Given the description of an element on the screen output the (x, y) to click on. 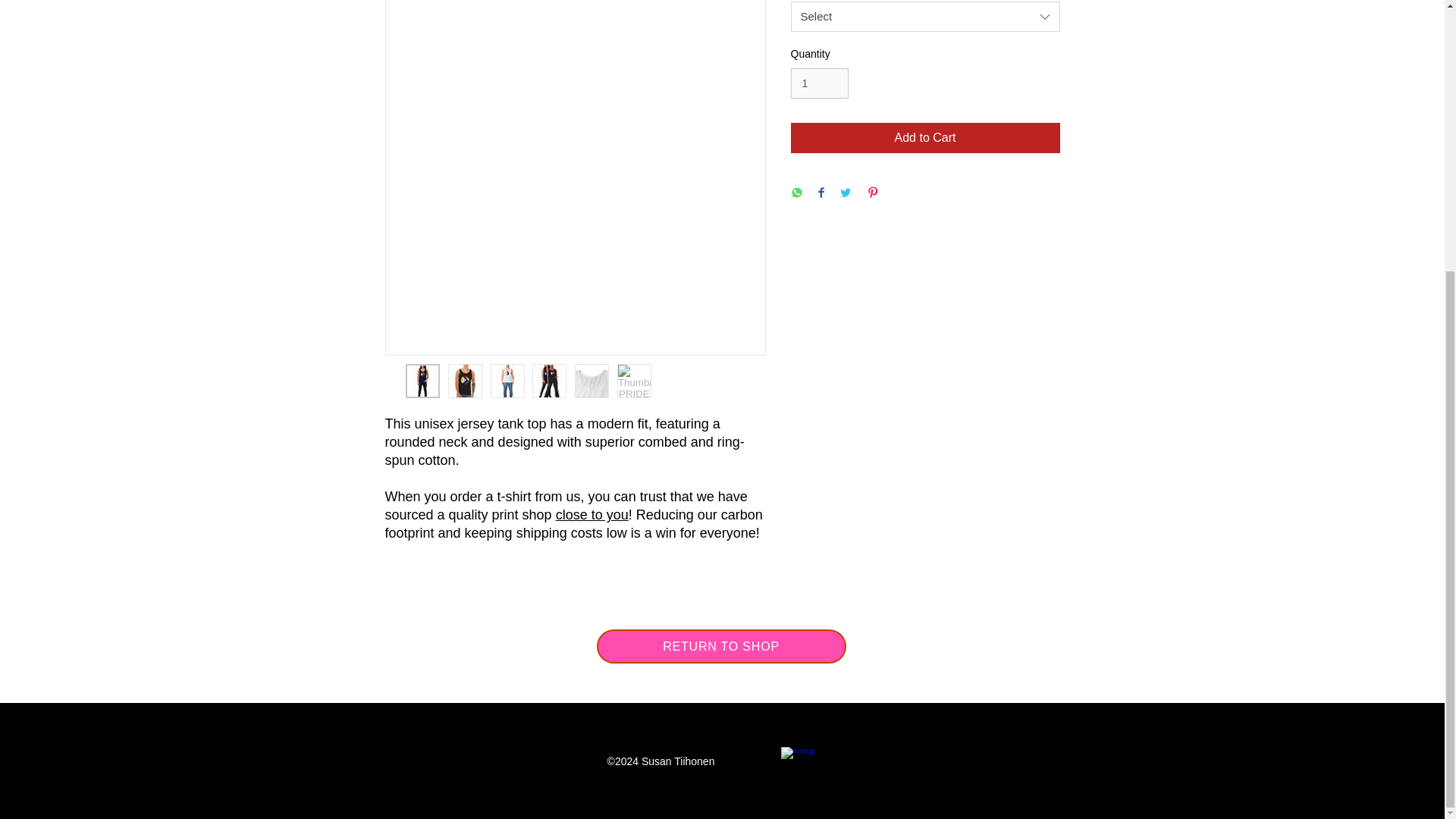
Add to Cart (924, 137)
RETURN TO SHOP (720, 646)
Select (924, 16)
1 (818, 83)
